Given the description of an element on the screen output the (x, y) to click on. 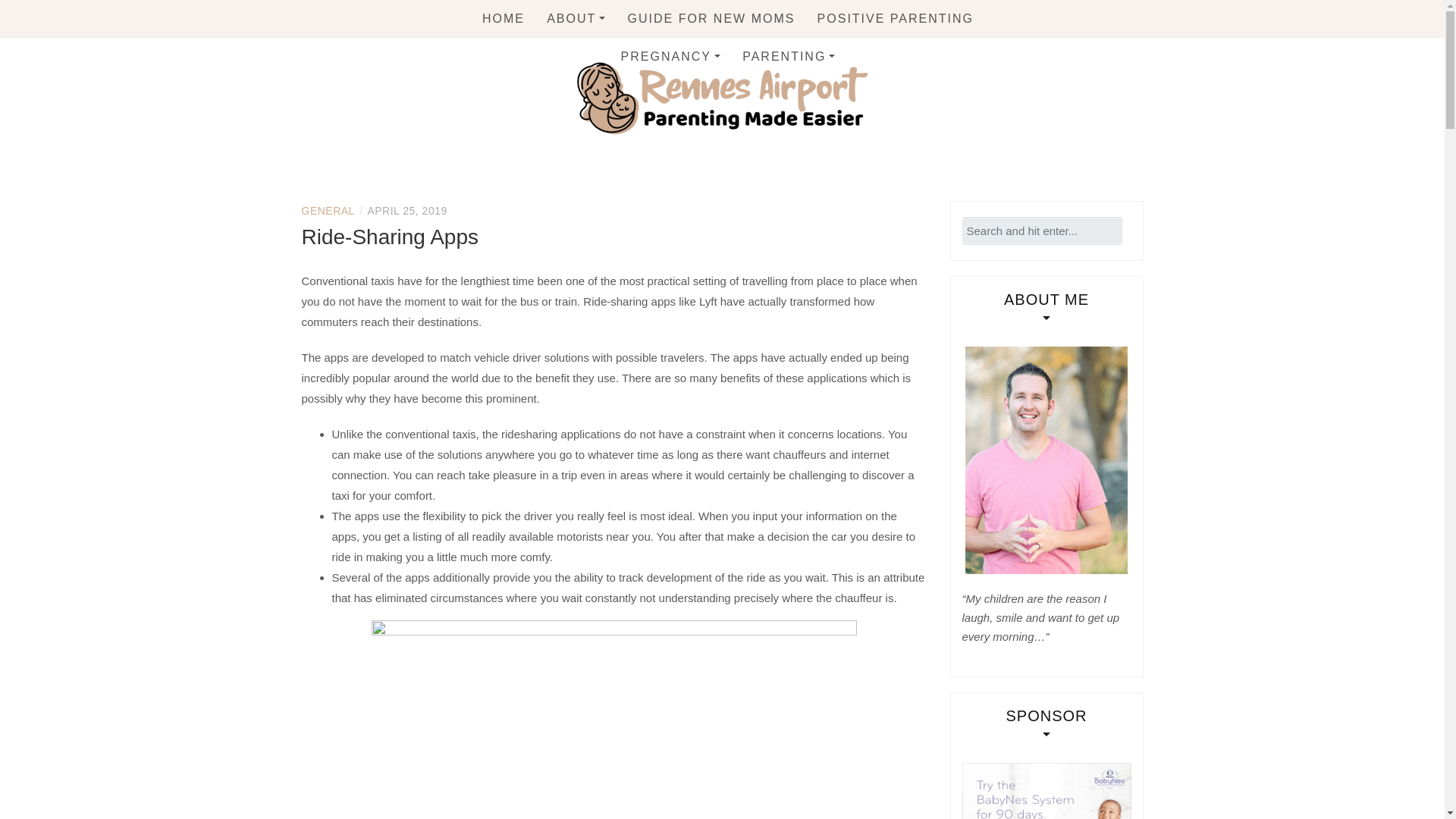
CONTACT (630, 52)
ABOUT (576, 18)
TERMS OF USE (796, 84)
POSITIVE PARENTING (895, 18)
GUIDE FOR NEW MOMS (710, 18)
HOME (502, 18)
PRIVACY POLICY (630, 84)
RETIREMENT (825, 91)
PREGNANCY (670, 56)
GENERAL (328, 210)
